Given the description of an element on the screen output the (x, y) to click on. 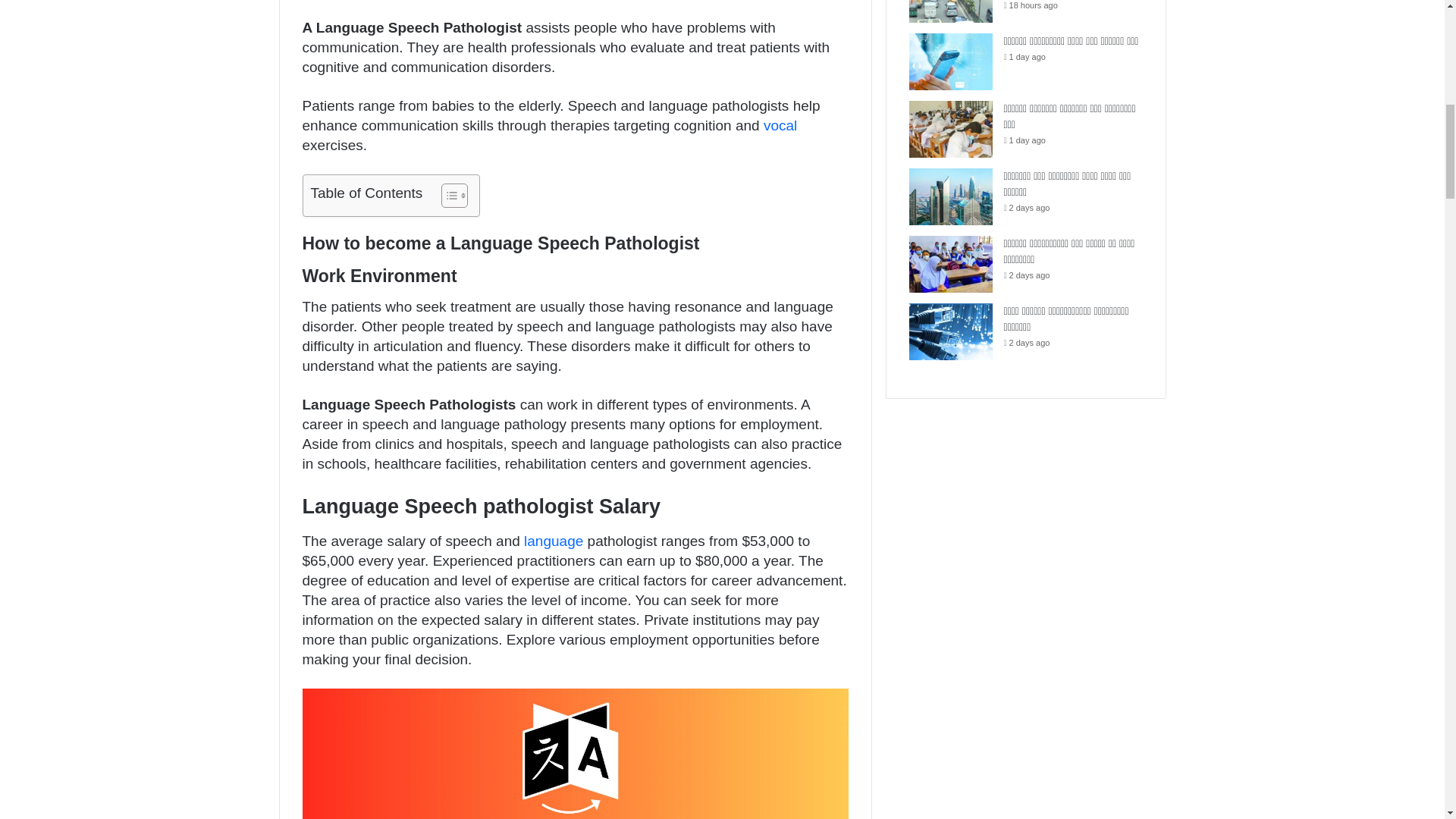
vocal (779, 125)
language (553, 540)
